Given the description of an element on the screen output the (x, y) to click on. 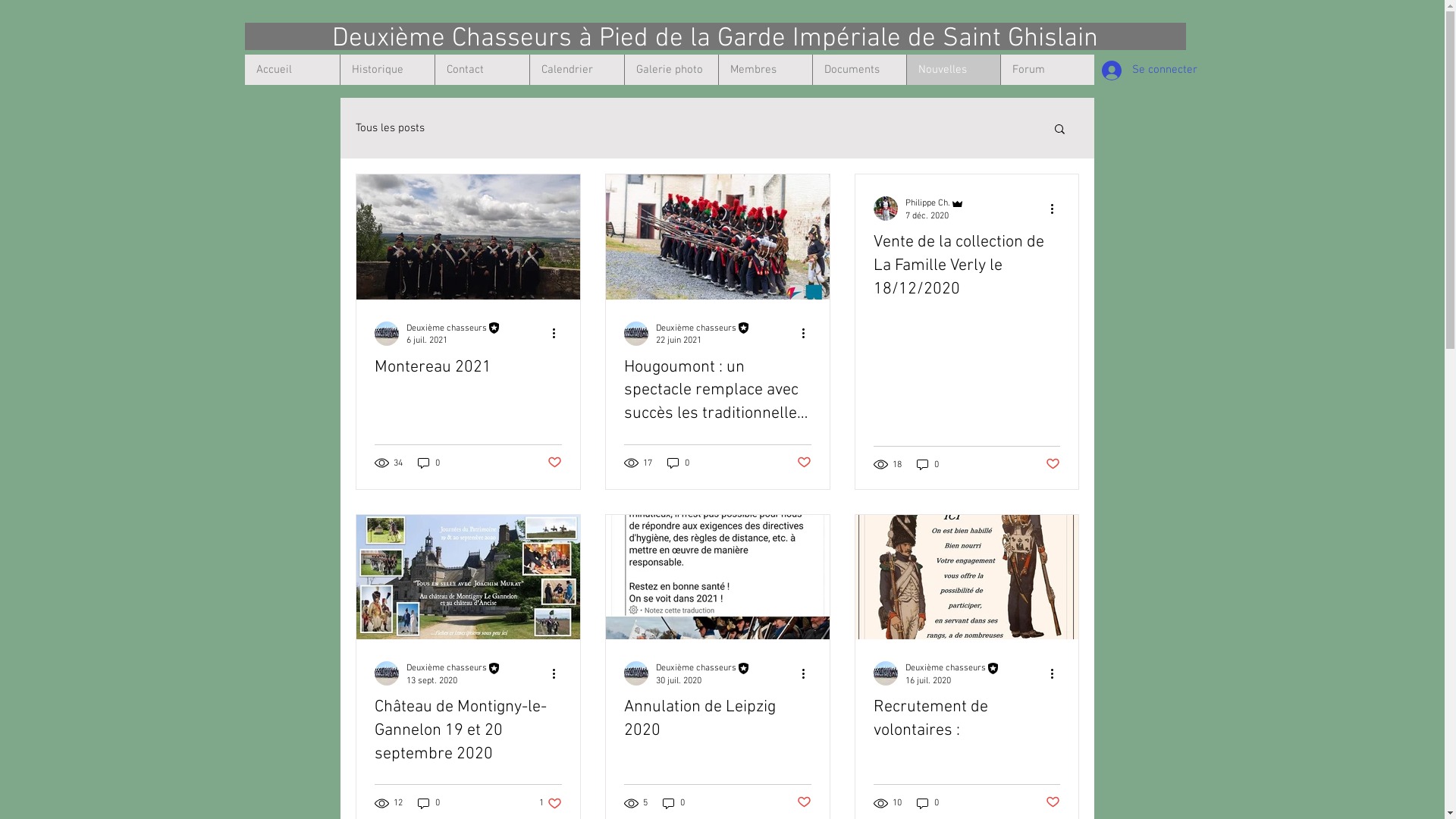
Vous n'aimez plus ce post Element type: text (803, 802)
Historique Element type: text (386, 69)
Membres Element type: text (764, 69)
Calendrier Element type: text (576, 69)
Galerie photo Element type: text (670, 69)
Annulation de Leipzig 2020 Element type: text (716, 719)
0 Element type: text (926, 803)
Documents Element type: text (858, 69)
Tous les posts Element type: text (388, 127)
0 Element type: text (427, 462)
Nouvelles Element type: text (952, 69)
0 Element type: text (677, 462)
Accueil Element type: text (291, 69)
Vous n'aimez plus ce post Element type: text (803, 463)
1 j'aime. Vous n'aimez plus ce post
1 Element type: text (549, 803)
Montereau 2021 Element type: text (467, 367)
0 Element type: text (673, 803)
0 Element type: text (427, 803)
Philippe Ch. Element type: text (934, 202)
D Element type: text (340, 38)
Forum Element type: text (1046, 69)
Recrutement de volontaires : Element type: text (966, 719)
Vous n'aimez plus ce post Element type: text (1051, 464)
Contact Element type: text (480, 69)
Vous n'aimez plus ce post Element type: text (1051, 802)
Se connecter Element type: text (1135, 70)
Vente de la collection de La Famille Verly le 18/12/2020 Element type: text (966, 266)
Vous n'aimez plus ce post Element type: text (554, 463)
0 Element type: text (926, 464)
